Given the description of an element on the screen output the (x, y) to click on. 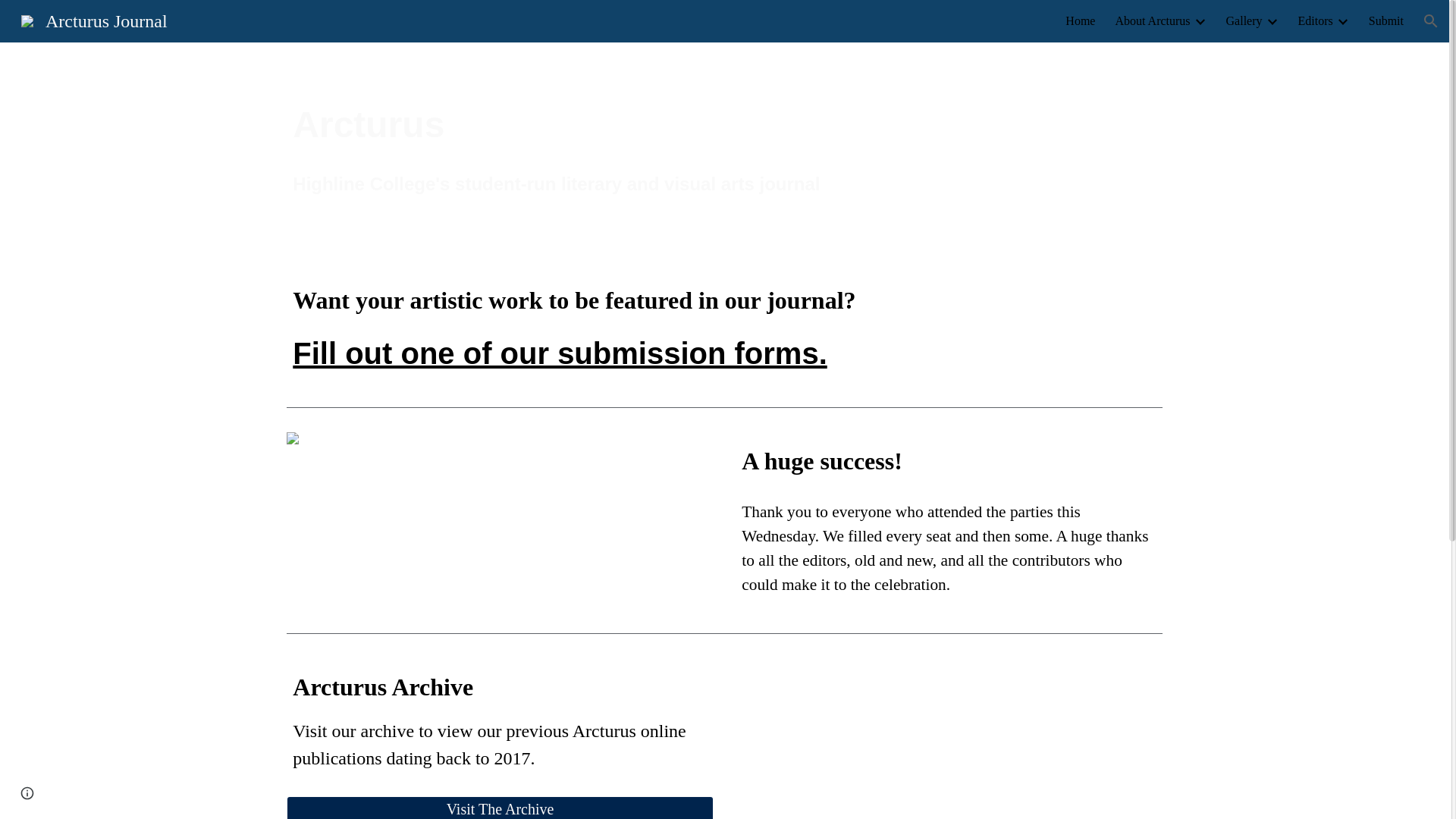
Editors (1315, 20)
Gallery (1243, 20)
Submit (1385, 20)
Home (1079, 20)
About Arcturus (1152, 20)
Arcturus Journal (93, 19)
